Given the description of an element on the screen output the (x, y) to click on. 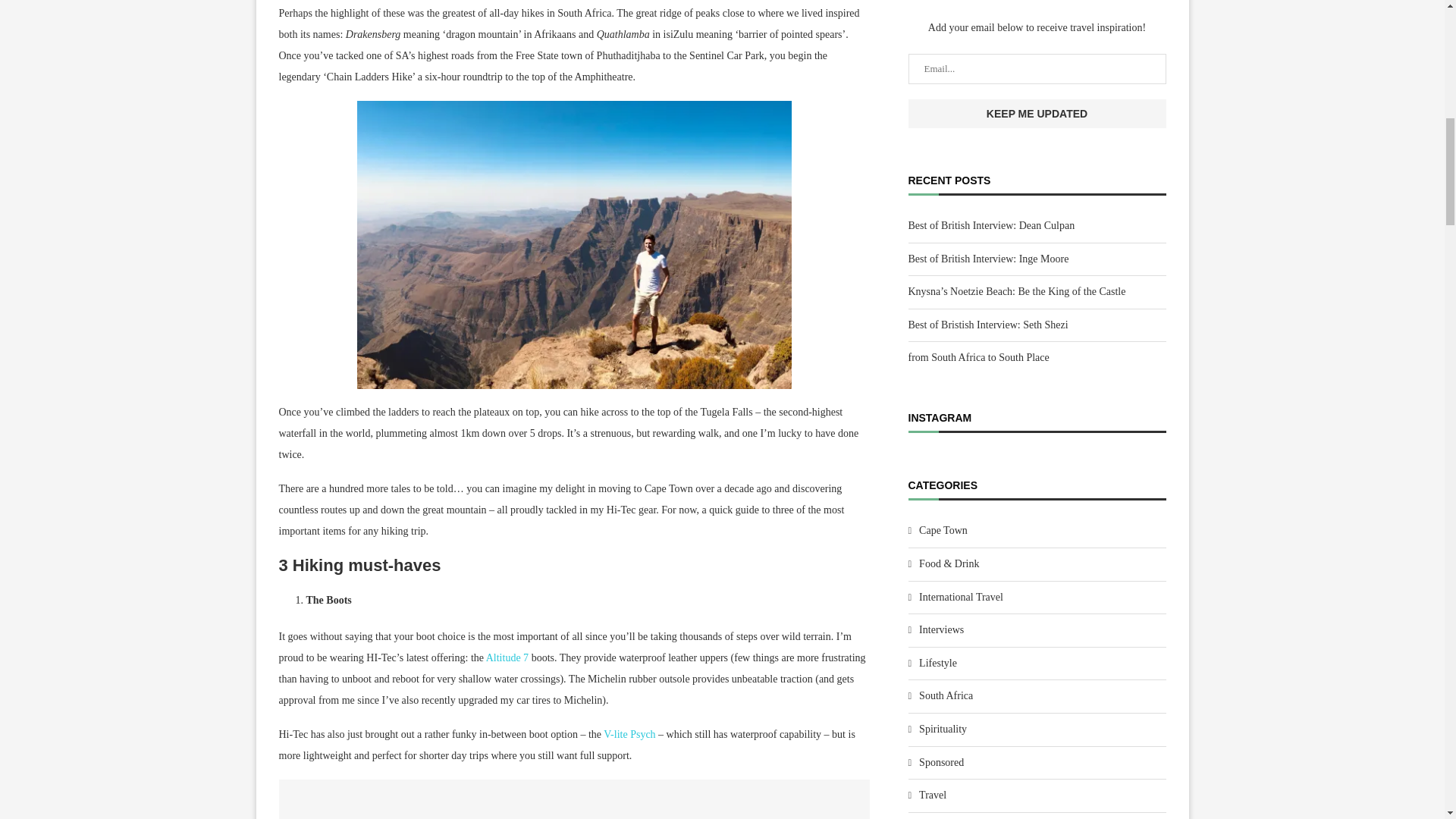
keep me updated (1037, 113)
Altitude 7 (507, 657)
V-lite Psych (629, 734)
